Given the description of an element on the screen output the (x, y) to click on. 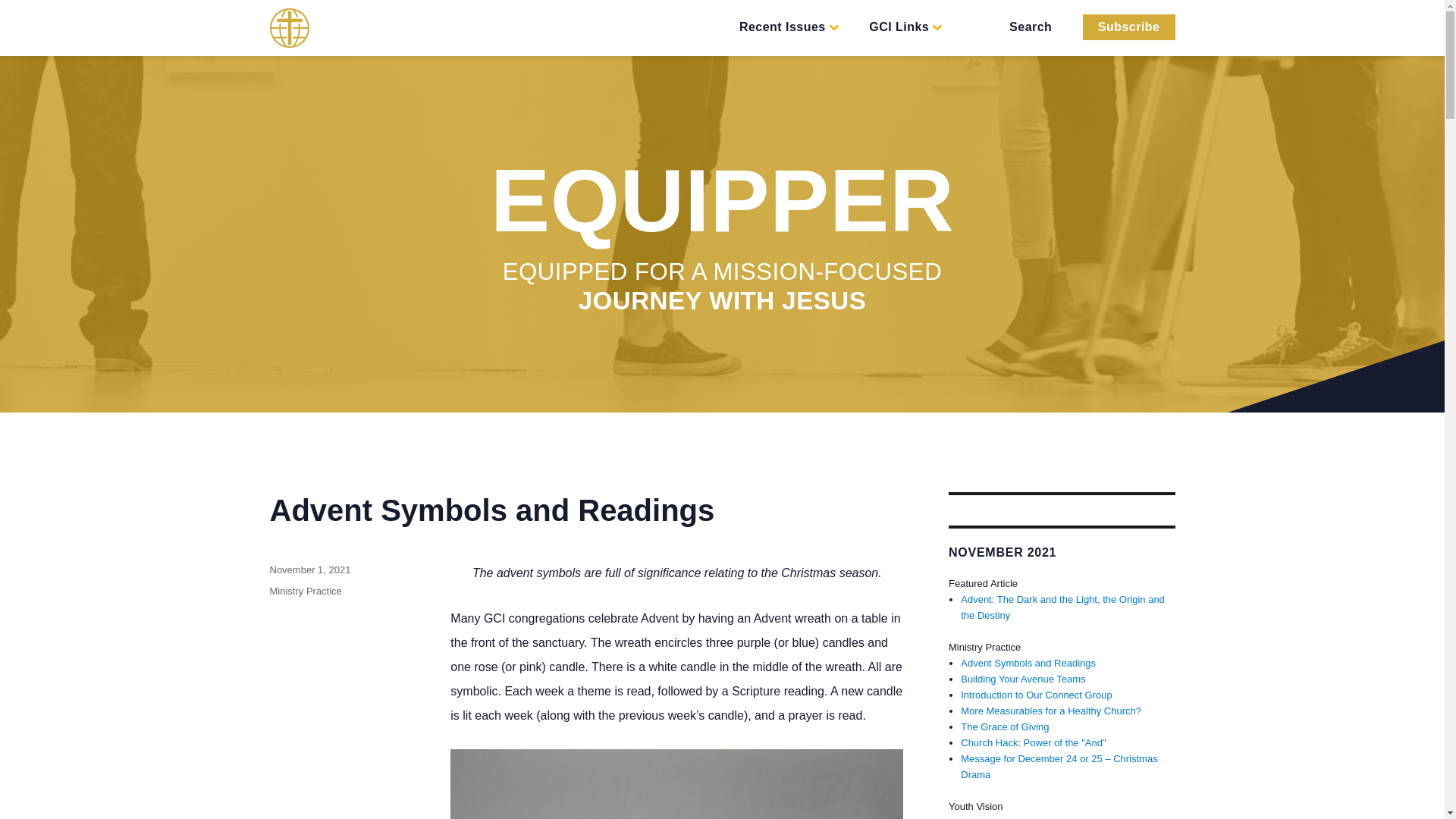
Search (1027, 35)
Recent Issues (788, 35)
Subscribe (1128, 27)
GCI Links (905, 35)
